Given the description of an element on the screen output the (x, y) to click on. 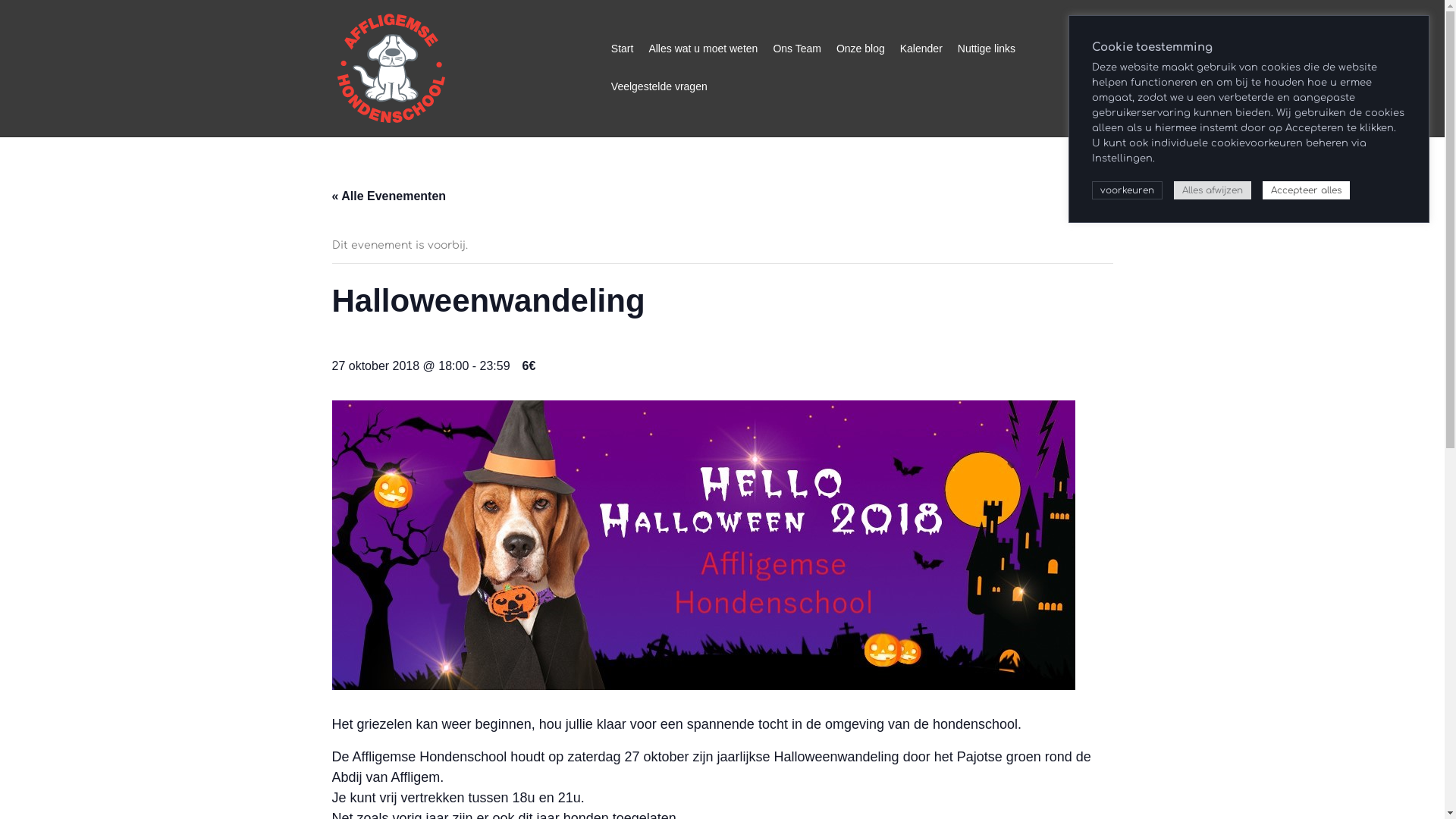
Kalender Element type: text (921, 49)
Alles afwijzen Element type: text (1212, 190)
Alles wat u moet weten Element type: text (702, 49)
Onze blog Element type: text (860, 49)
Nuttige links Element type: text (986, 49)
Veelgestelde vragen Element type: text (659, 87)
Ons Team Element type: text (796, 49)
Start Element type: text (622, 49)
Accepteer alles Element type: text (1305, 190)
voorkeuren Element type: text (1127, 190)
